Given the description of an element on the screen output the (x, y) to click on. 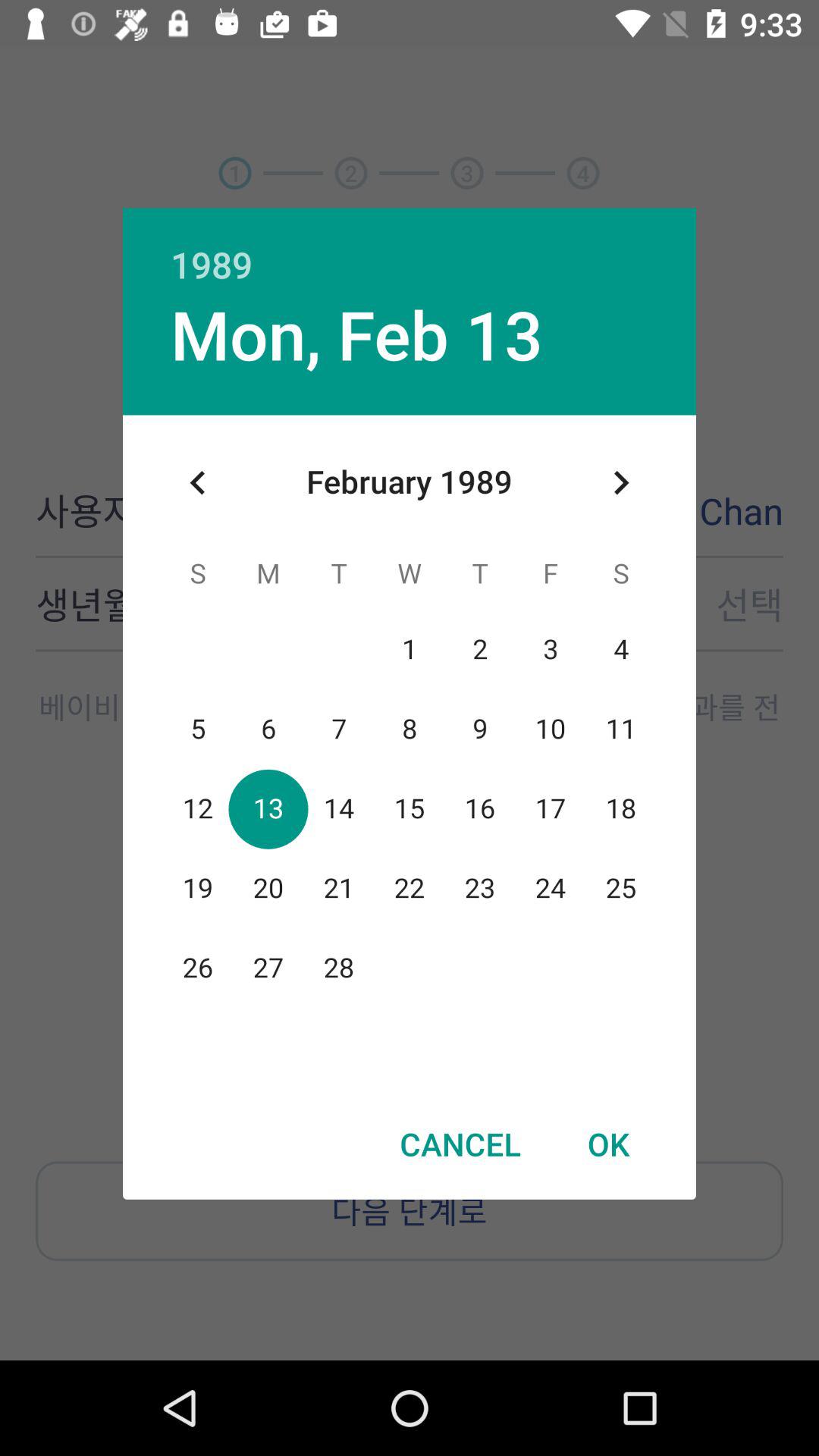
launch the item at the bottom right corner (608, 1143)
